Given the description of an element on the screen output the (x, y) to click on. 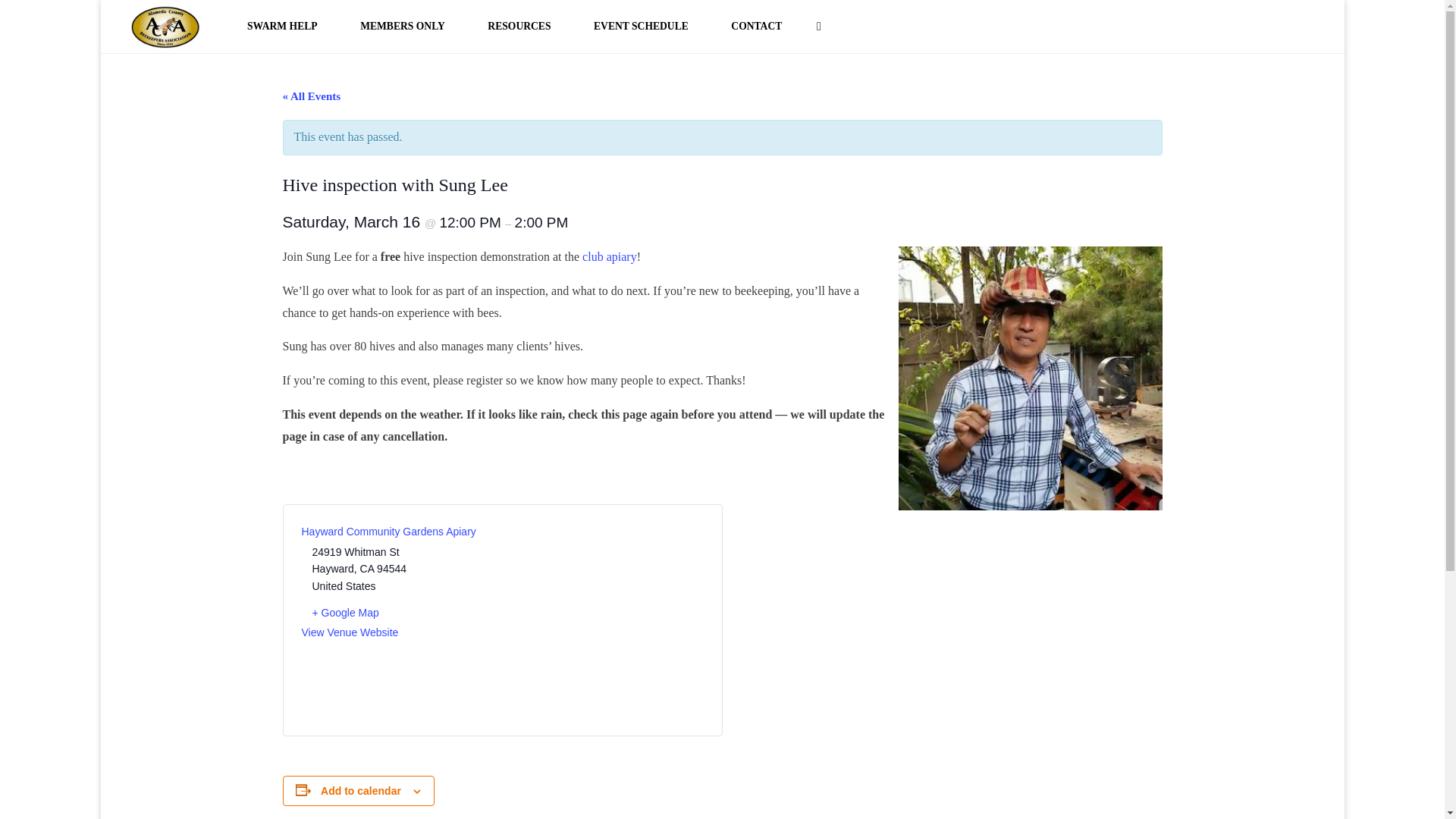
California (366, 568)
Hayward Community Gardens Apiary (388, 531)
The Alameda County Beekeepers Association (165, 25)
Click to view a Google Map (401, 612)
